Given the description of an element on the screen output the (x, y) to click on. 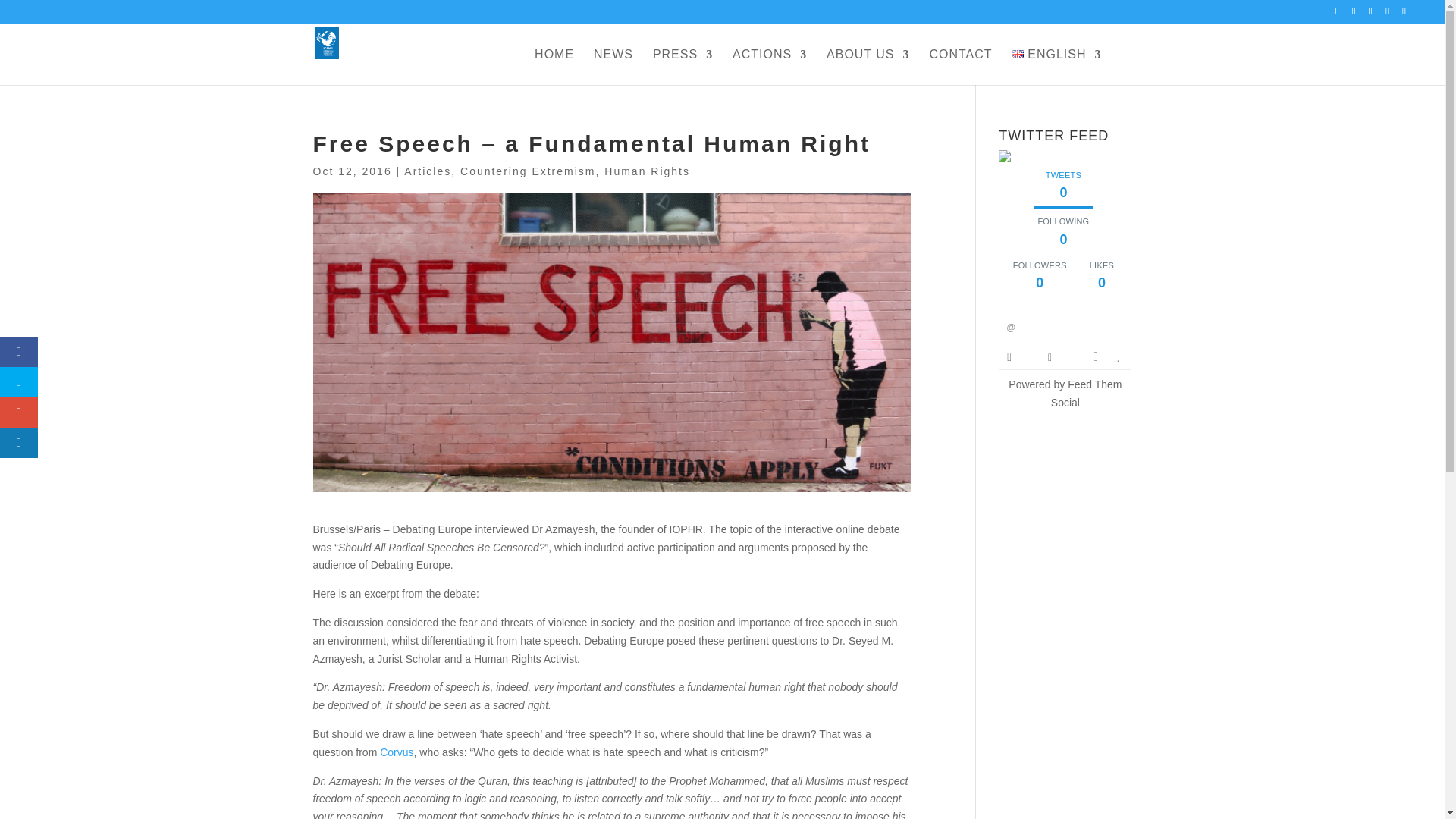
HOME (553, 66)
PRESS (682, 66)
ENGLISH (1055, 66)
CONTACT (959, 66)
NEWS (613, 66)
ABOUT US (868, 66)
ACTIONS (769, 66)
